Given the description of an element on the screen output the (x, y) to click on. 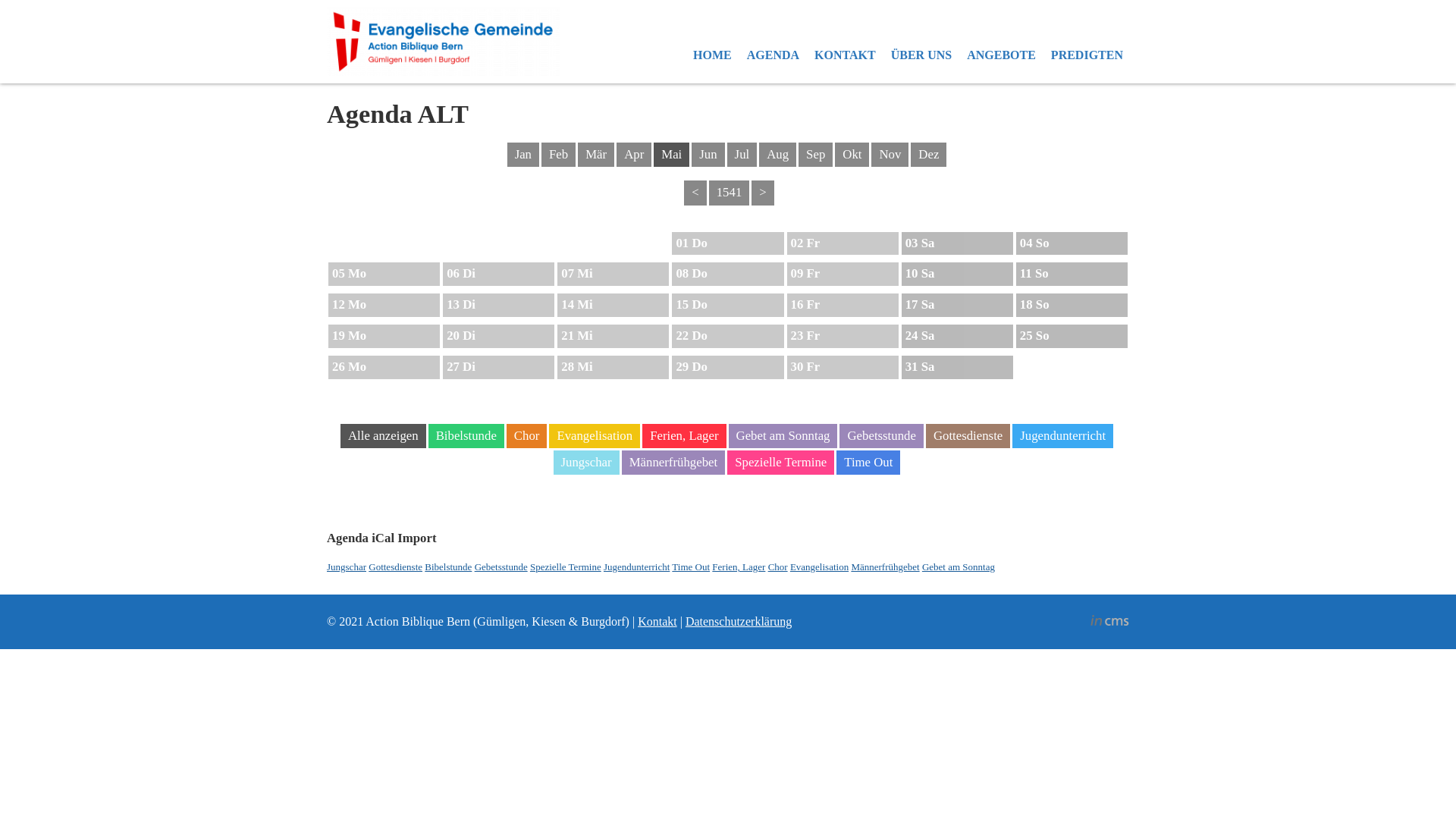
Bibelstunde Element type: text (466, 435)
Chor Element type: text (777, 566)
Jun Element type: text (707, 154)
Ferien, Lager Element type: text (738, 566)
Jungschar Element type: text (346, 566)
Jan Element type: text (523, 154)
Gottesdienste Element type: text (967, 435)
Evangelisation Element type: text (819, 566)
Mai Element type: text (671, 154)
Chor Element type: text (526, 435)
HOME Element type: text (712, 55)
Jungschar Element type: text (586, 462)
Okt Element type: text (851, 154)
Jugendunterricht Element type: text (1062, 435)
1541 Element type: text (729, 192)
> Element type: text (762, 192)
Apr Element type: text (633, 154)
Alle anzeigen Element type: text (383, 435)
Kontakt Element type: text (657, 621)
ANGEBOTE Element type: text (1000, 55)
AGENDA Element type: text (772, 55)
< Element type: text (695, 192)
KONTAKT Element type: text (844, 55)
Spezielle Termine Element type: text (780, 462)
Gebet am Sonntag Element type: text (958, 566)
Nov Element type: text (889, 154)
Gebet am Sonntag Element type: text (782, 435)
Evangelisation Element type: text (594, 435)
Time Out Element type: text (690, 566)
PREDIGTEN Element type: text (1086, 55)
Gebetsstunde Element type: text (500, 566)
Sep Element type: text (815, 154)
Jugendunterricht Element type: text (636, 566)
Ferien, Lager Element type: text (683, 435)
Jul Element type: text (742, 154)
Dez Element type: text (928, 154)
Aug Element type: text (777, 154)
Feb Element type: text (558, 154)
Gebetsstunde Element type: text (880, 435)
Time Out Element type: text (868, 462)
Bibelstunde Element type: text (447, 566)
Gottesdienste Element type: text (395, 566)
Spezielle Termine Element type: text (565, 566)
